Given the description of an element on the screen output the (x, y) to click on. 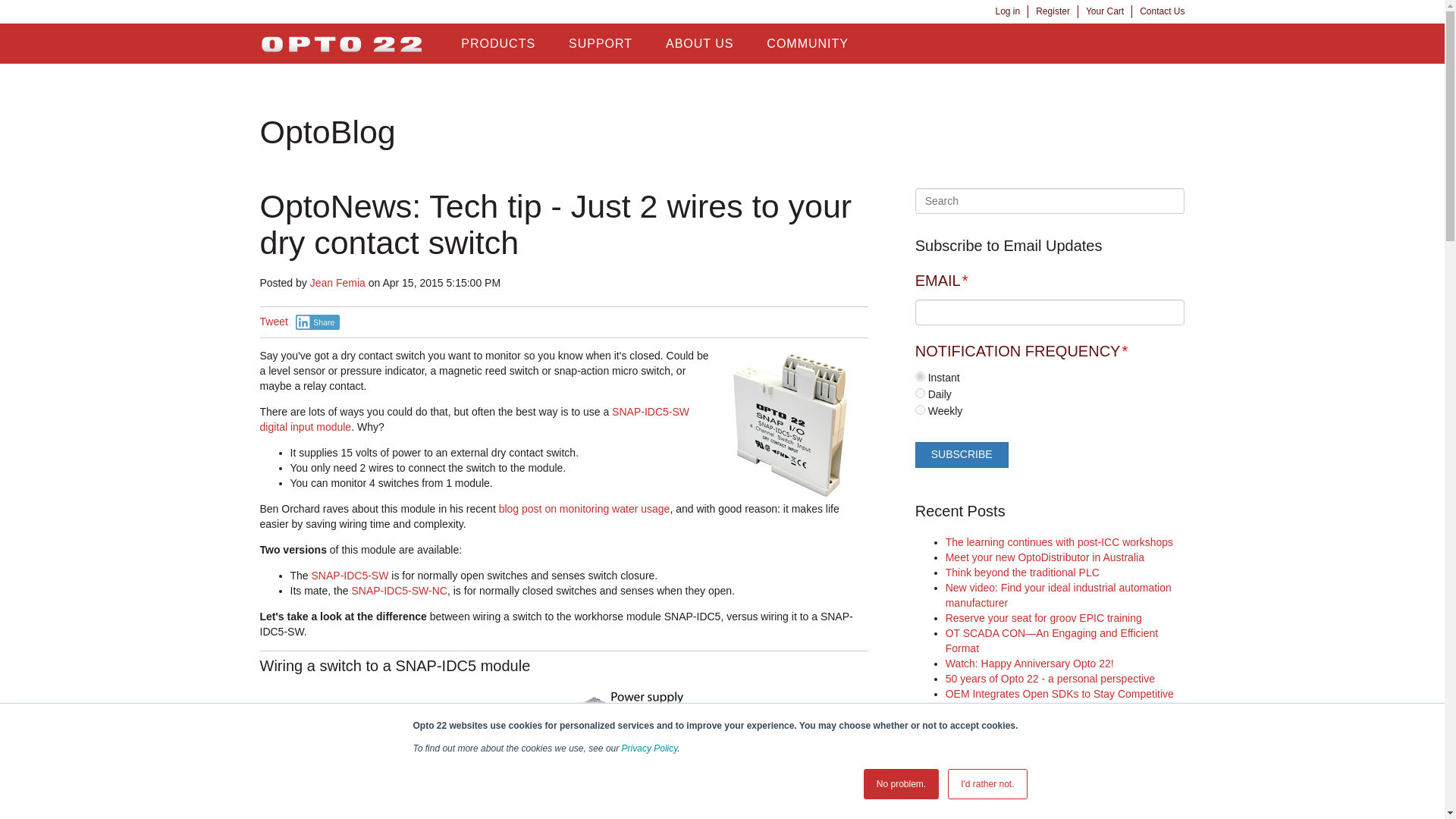
SNAP-IDC5-SW digital input module (791, 424)
SUPPORT (600, 43)
weekly (919, 409)
ABOUT US (699, 43)
Opto 22 Logo (341, 44)
instant (919, 376)
PRODUCTS (497, 43)
Log in (1007, 11)
Privacy Policy (649, 747)
daily (919, 393)
